Given the description of an element on the screen output the (x, y) to click on. 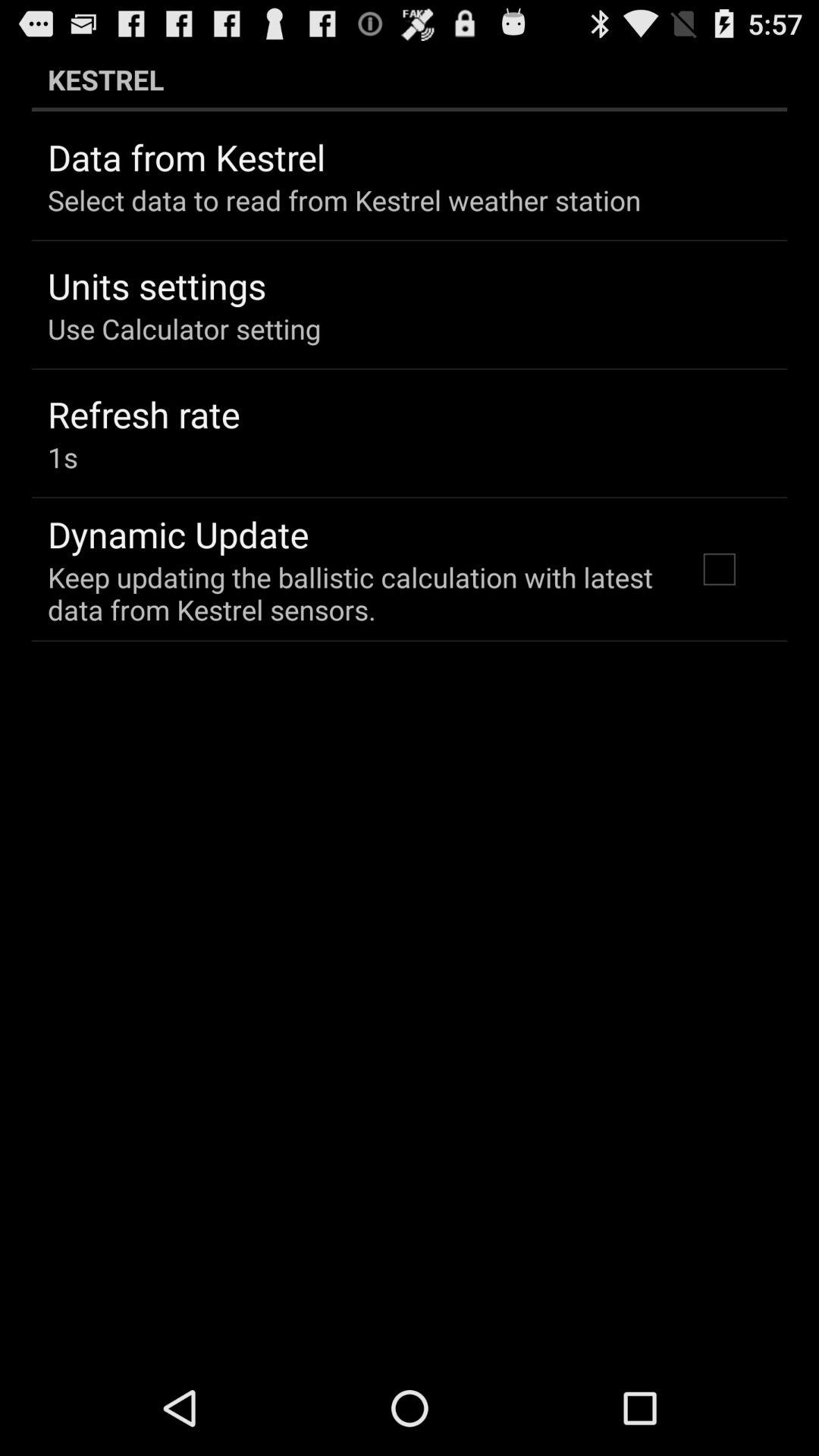
tap the item above dynamic update item (62, 457)
